Given the description of an element on the screen output the (x, y) to click on. 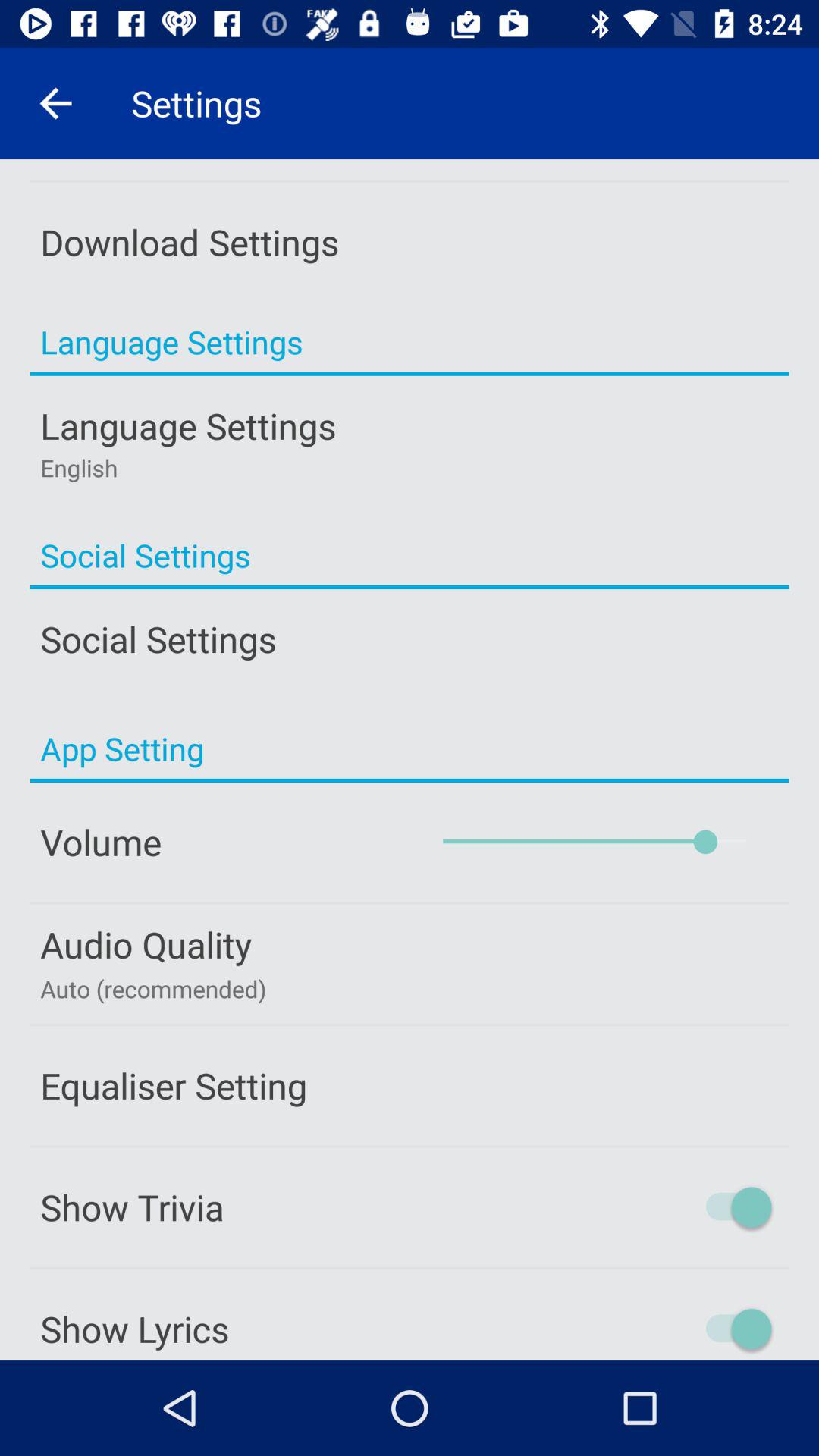
choose item next to show lyrics icon (674, 1328)
